Given the description of an element on the screen output the (x, y) to click on. 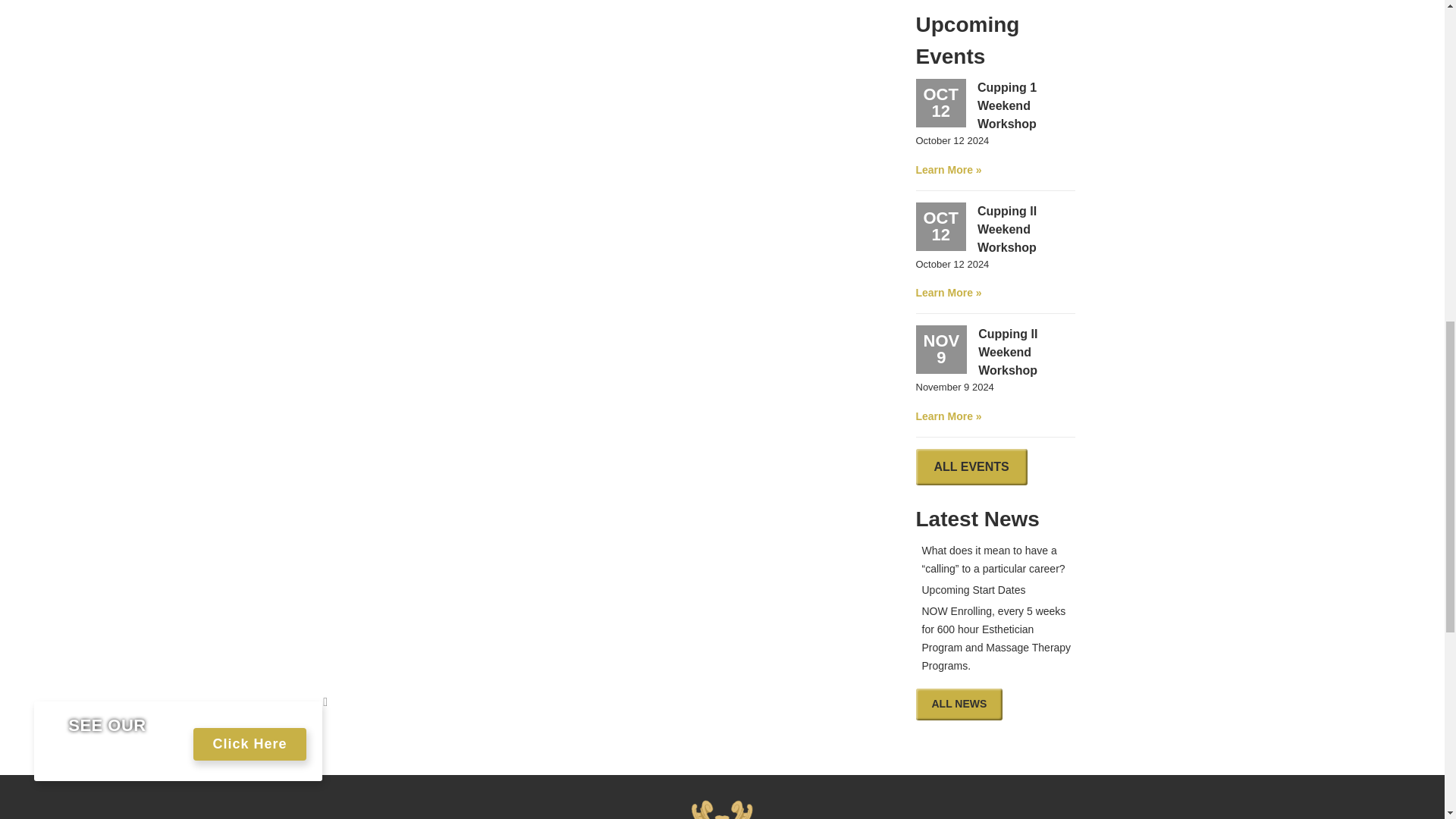
Permalink to: Cupping II Weekend Workshop (995, 249)
Permalink to: Cupping II Weekend Workshop (995, 373)
Permalink to: Cupping 1 Weekend Workshop (995, 127)
